Given the description of an element on the screen output the (x, y) to click on. 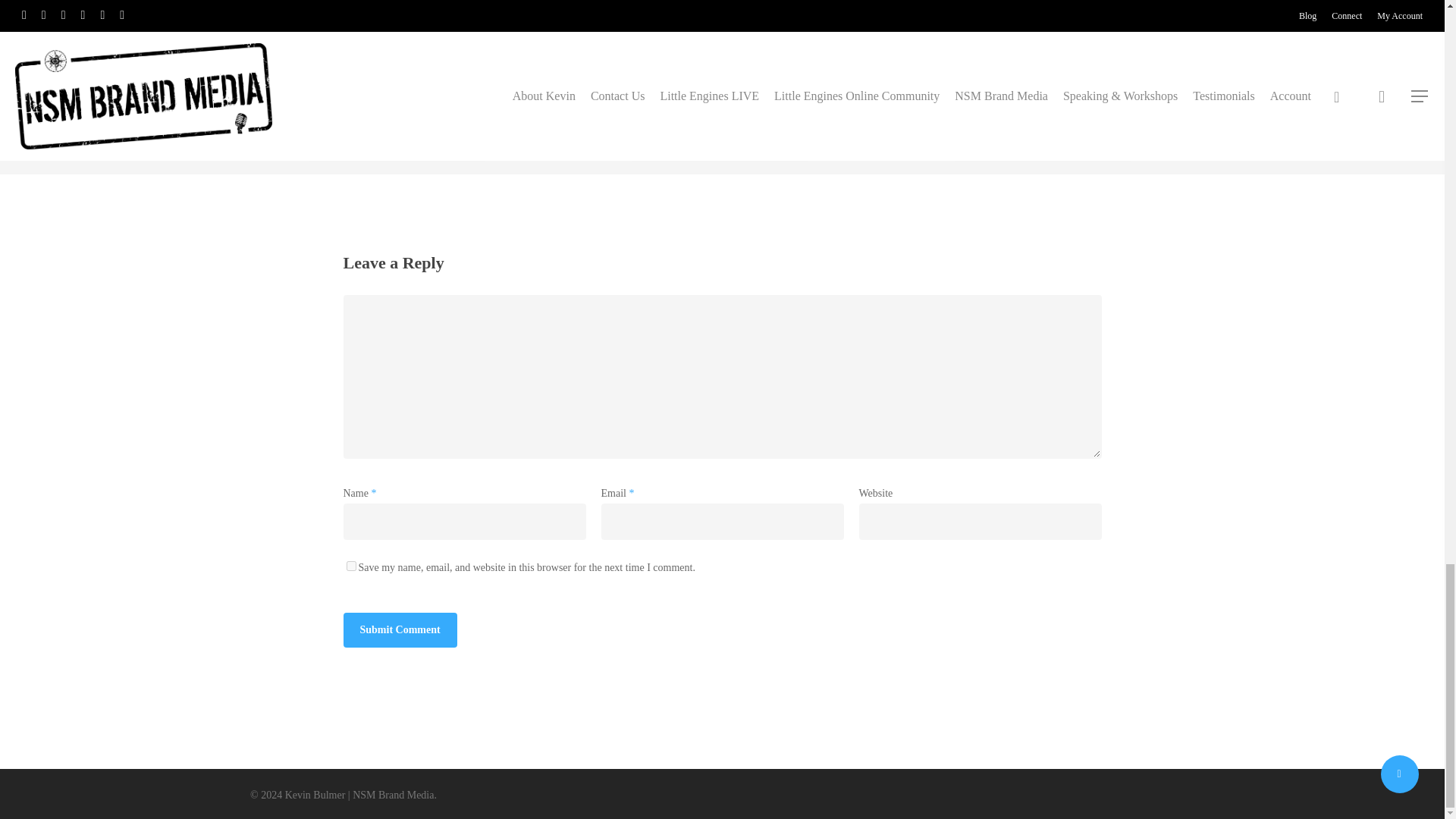
Submit Comment (399, 629)
yes (350, 565)
